Given the description of an element on the screen output the (x, y) to click on. 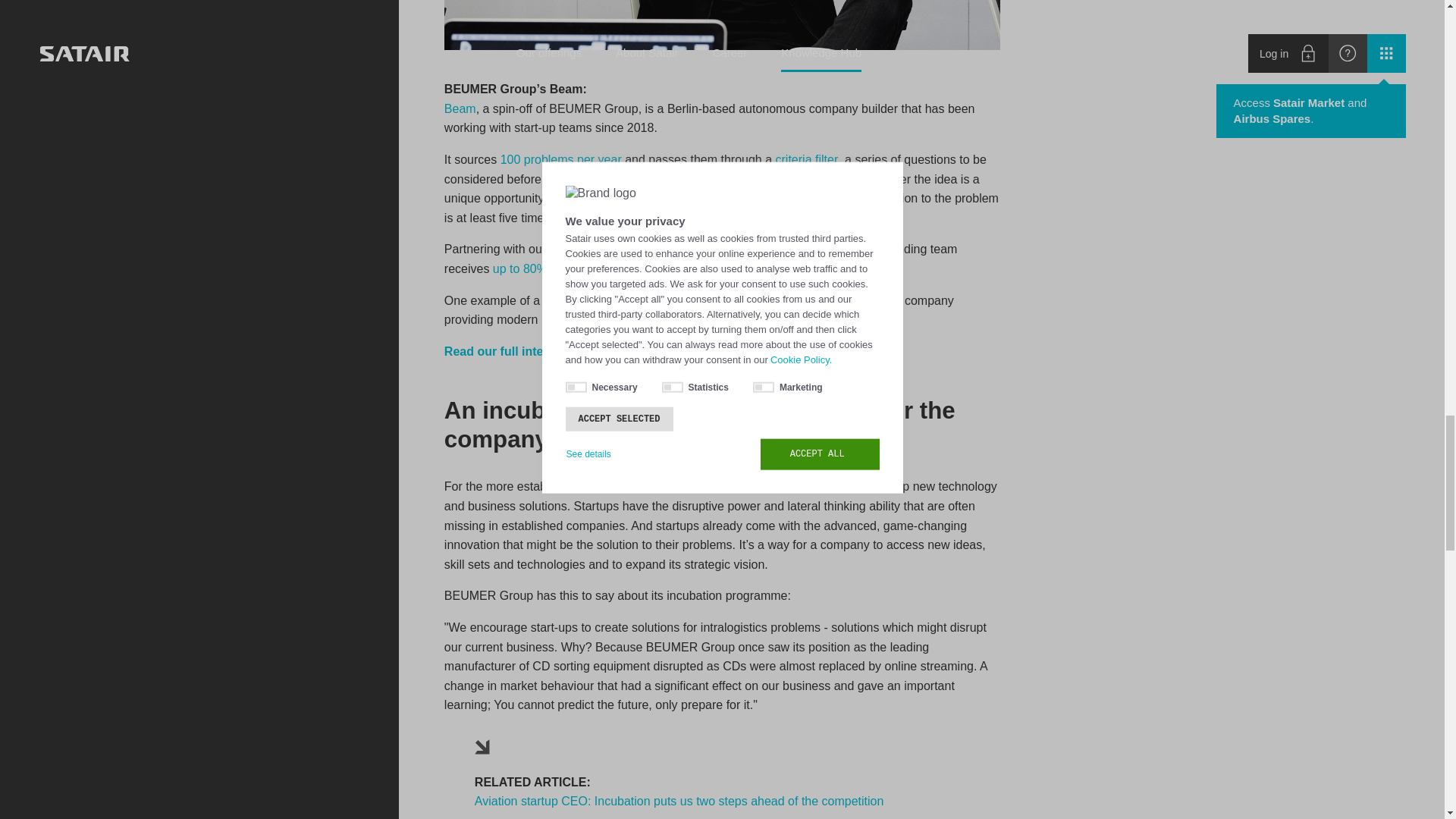
100 problems per year (560, 159)
Beam (460, 108)
Airsiders (801, 300)
criteria filter (807, 159)
